Given the description of an element on the screen output the (x, y) to click on. 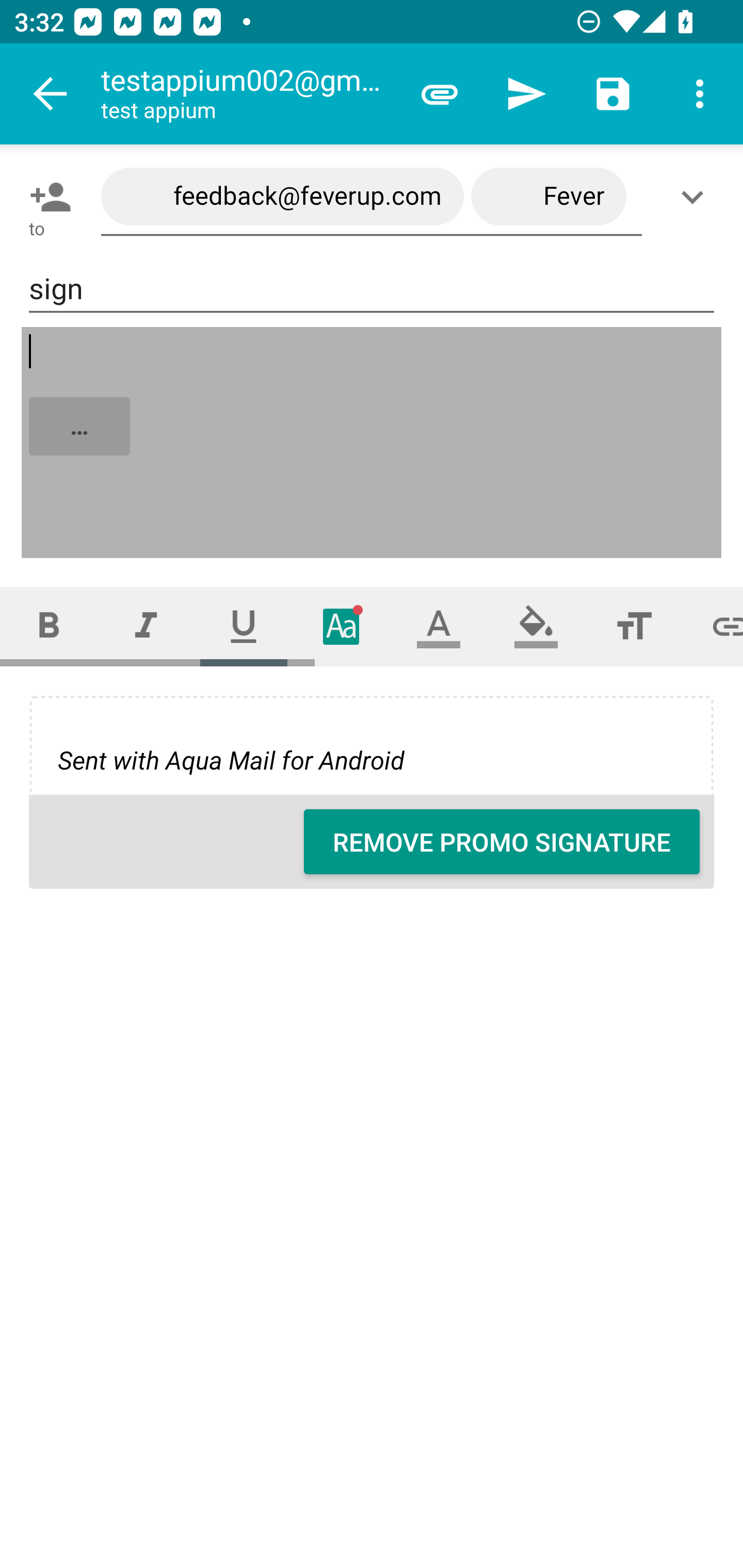
Navigate up (50, 93)
testappium002@gmail.com test appium (248, 93)
Attach (439, 93)
Send (525, 93)
Save (612, 93)
More options (699, 93)
feedback@feverup.com, Fever <hello@feverup.com>,  (371, 197)
Pick contact: To (46, 196)
Show/Add CC/BCC (696, 196)
sign (371, 288)

…
 (372, 442)
Bold (48, 626)
Italic (145, 626)
Underline (243, 626)
Typeface (font) (341, 626)
Text color (438, 626)
Fill color (536, 626)
Font size (633, 626)
REMOVE PROMO SIGNATURE (501, 841)
